Given the description of an element on the screen output the (x, y) to click on. 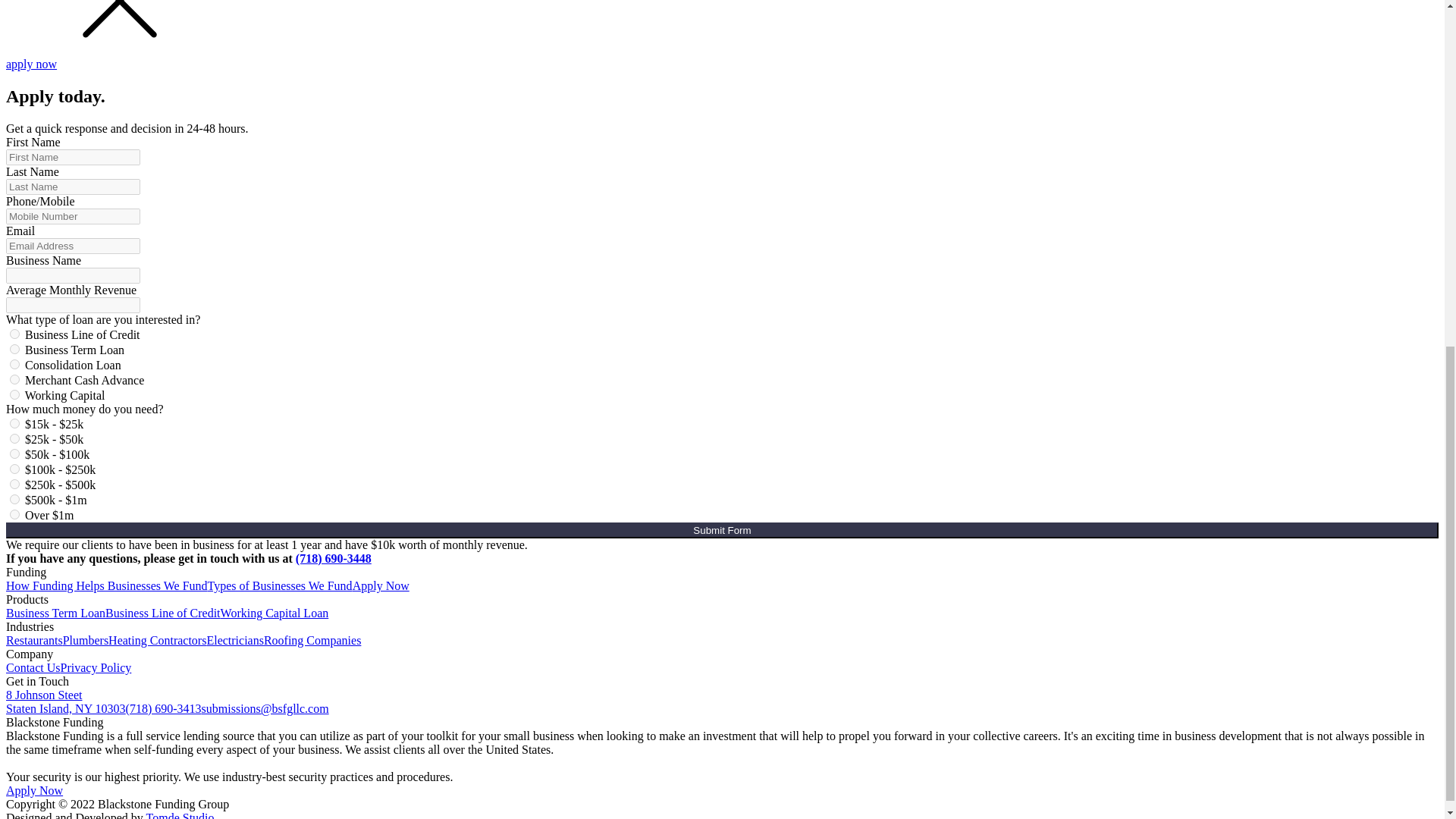
apply now (30, 63)
Restaurants (33, 640)
Merchant Cash Advance (15, 379)
Business Line of Credit (162, 612)
Contact Us (33, 667)
Types of Businesses We Fund (65, 701)
Heating Contractors (280, 585)
Business Term Loan (156, 640)
Working Capital Loan (15, 348)
Apply Now (275, 612)
Apply Now (33, 789)
Electricians (380, 585)
Plumbers (234, 640)
Business Term Loan (84, 640)
